Given the description of an element on the screen output the (x, y) to click on. 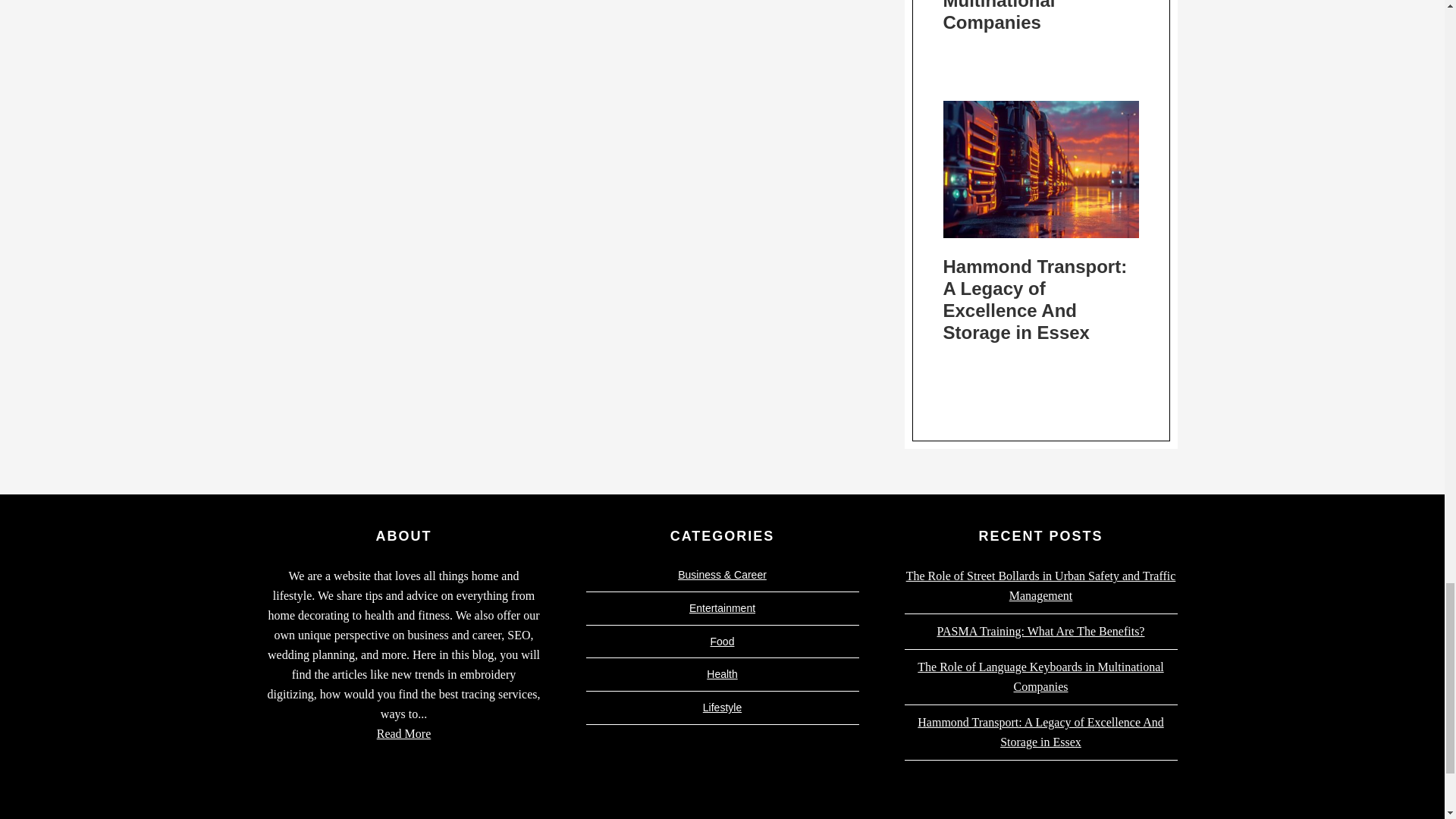
Read More (403, 733)
The Role of Language Keyboards in Multinational Companies (1038, 16)
